Given the description of an element on the screen output the (x, y) to click on. 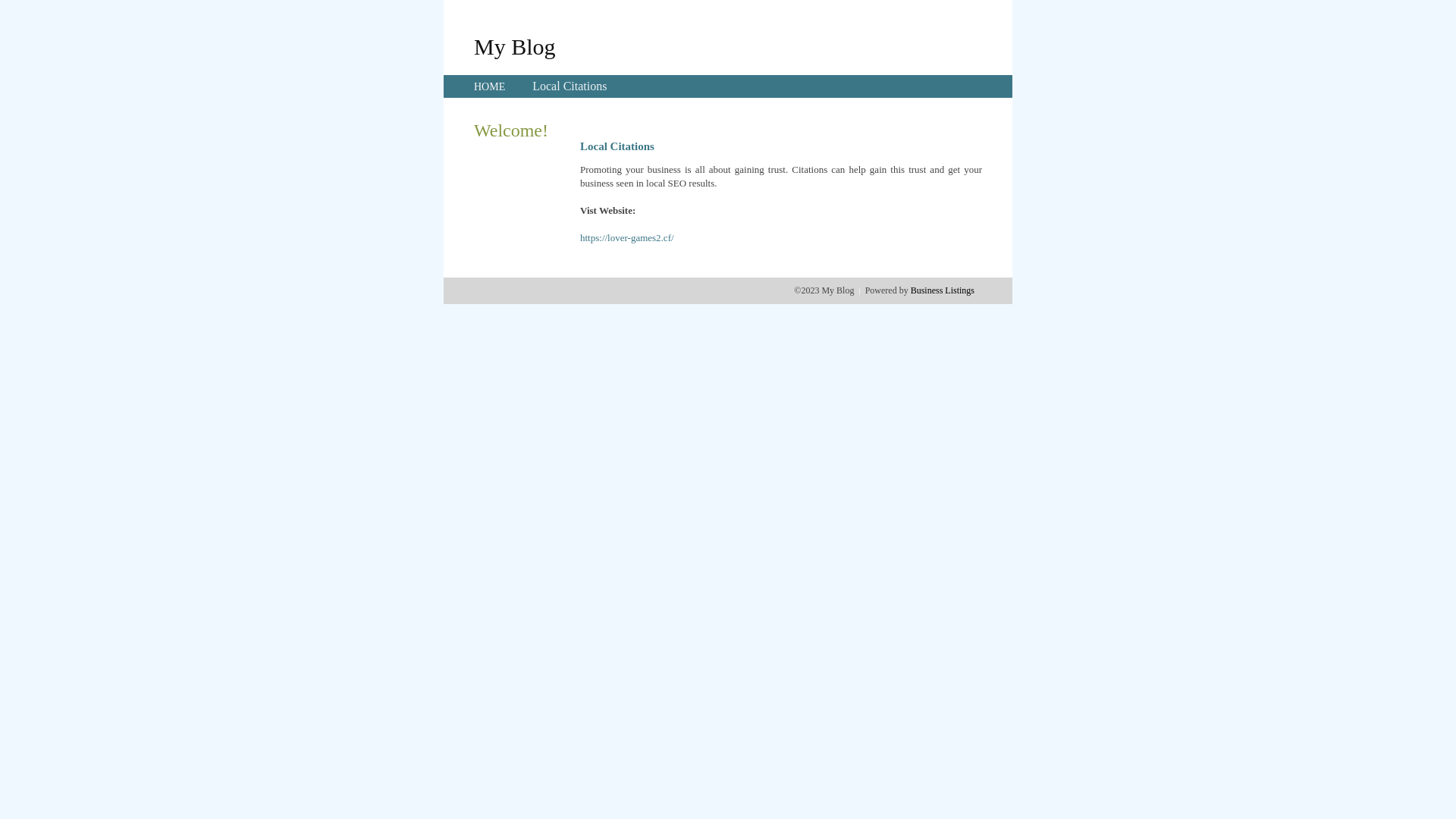
https://lover-games2.cf/ Element type: text (627, 237)
Local Citations Element type: text (569, 85)
HOME Element type: text (489, 86)
Business Listings Element type: text (942, 290)
My Blog Element type: text (514, 46)
